Given the description of an element on the screen output the (x, y) to click on. 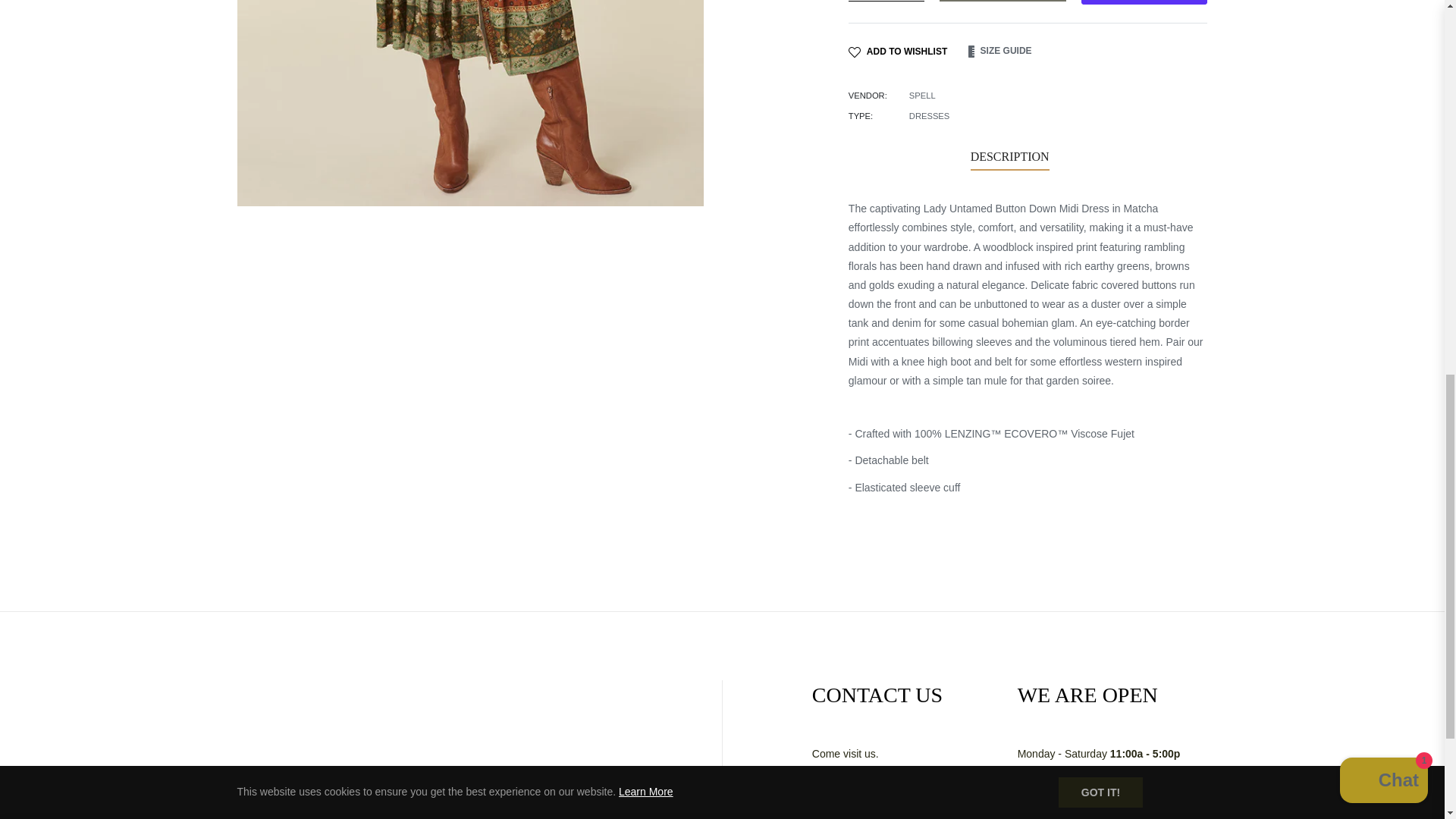
1 (886, 0)
ADD TO CART (1002, 0)
SIZE GUIDE (997, 51)
